Given the description of an element on the screen output the (x, y) to click on. 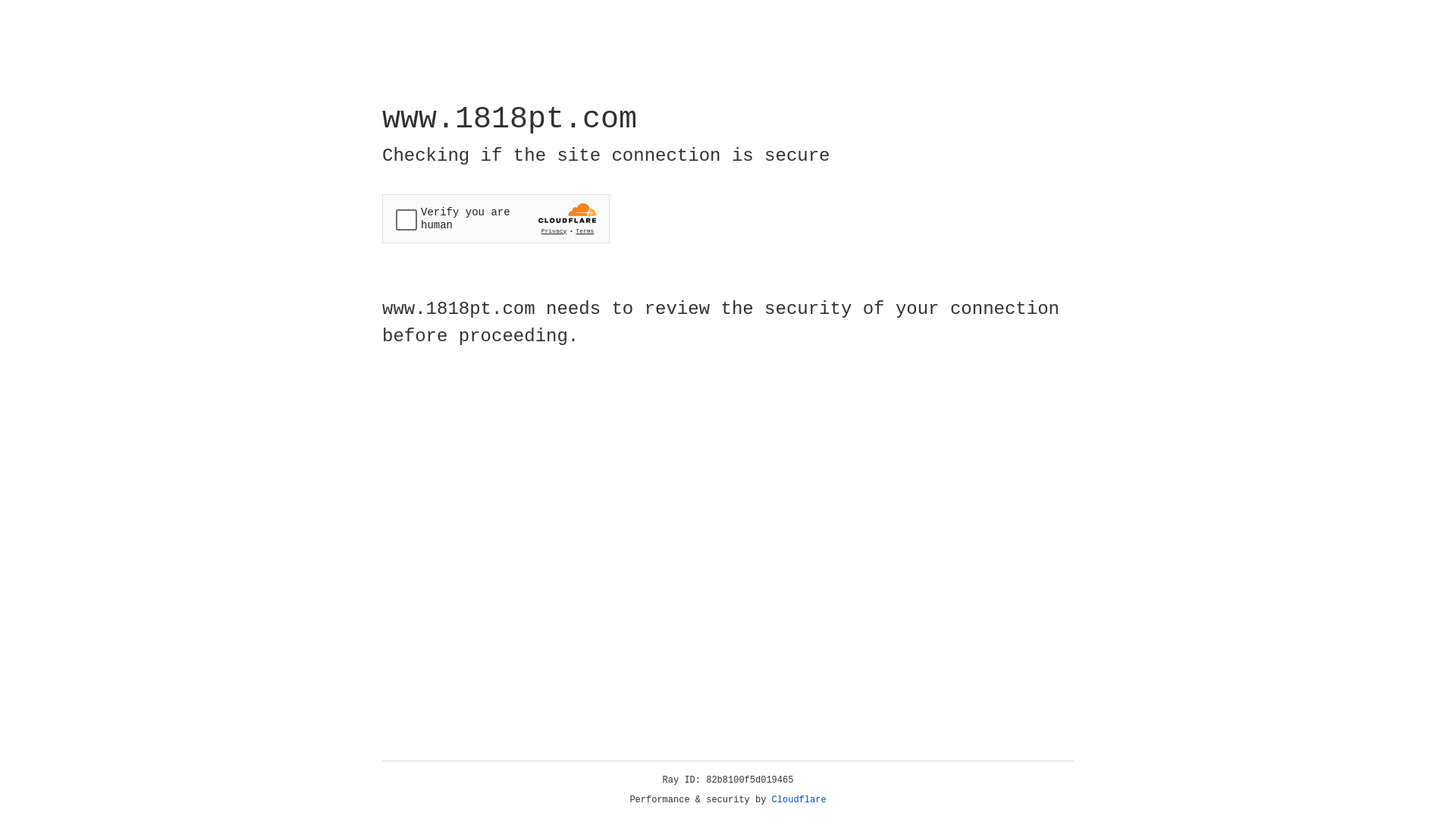
Widget containing a Cloudflare security challenge Element type: hover (495, 218)
Cloudflare Element type: text (798, 799)
